Given the description of an element on the screen output the (x, y) to click on. 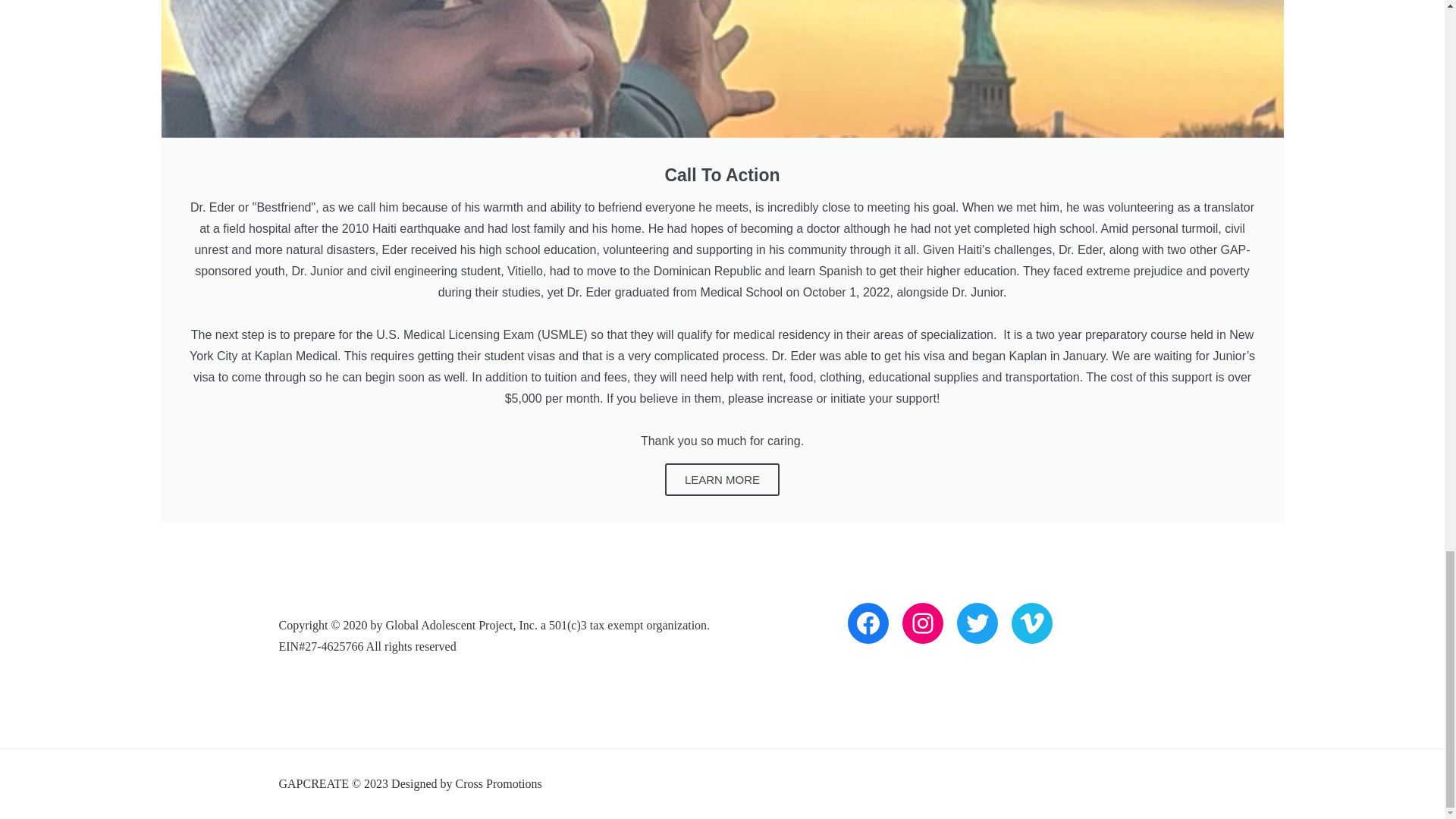
Designed by Cross Promotions (466, 783)
LEARN MORE (721, 479)
